Given the description of an element on the screen output the (x, y) to click on. 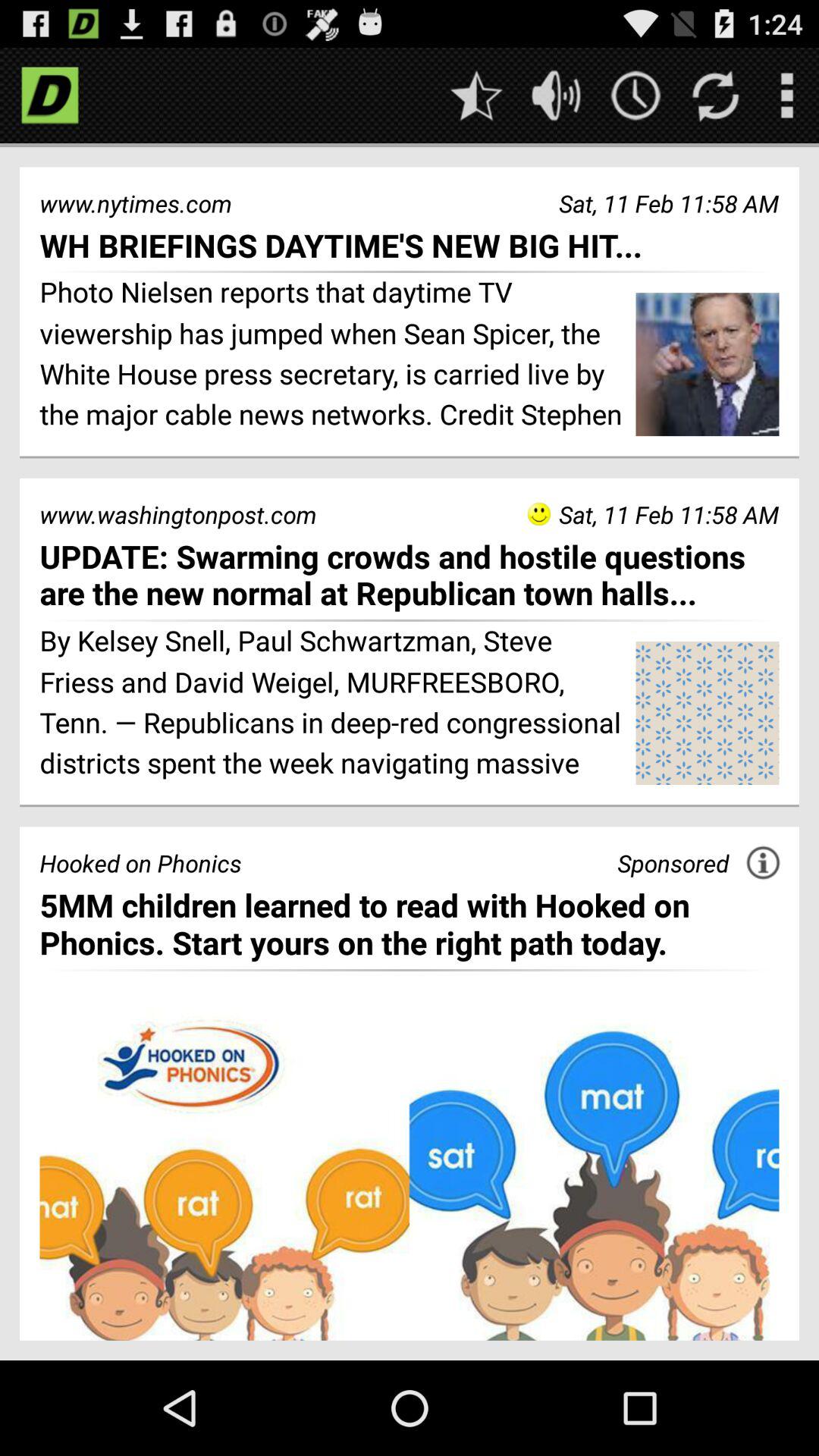
see current news (635, 95)
